Given the description of an element on the screen output the (x, y) to click on. 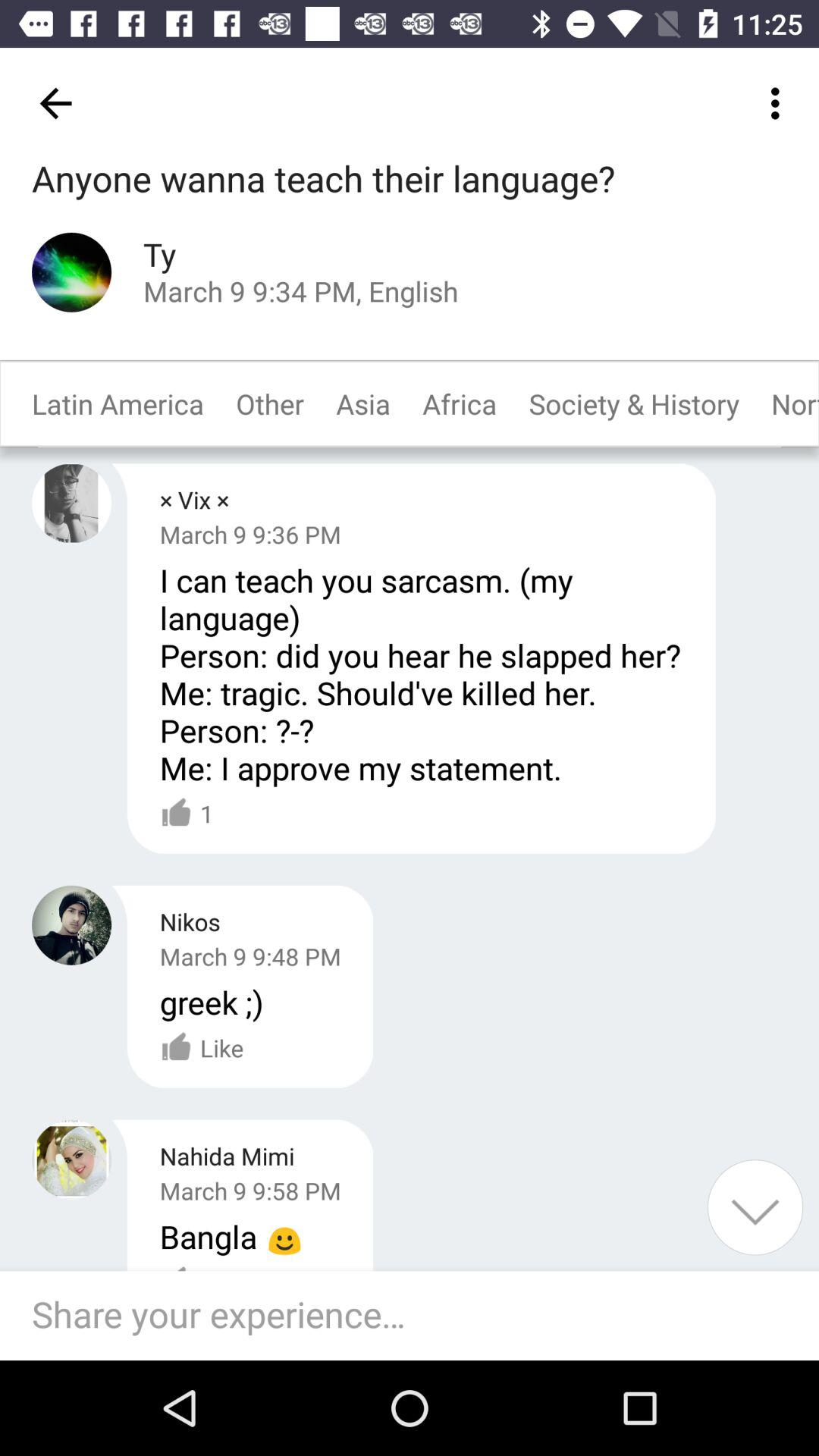
select user avatar (71, 272)
